Given the description of an element on the screen output the (x, y) to click on. 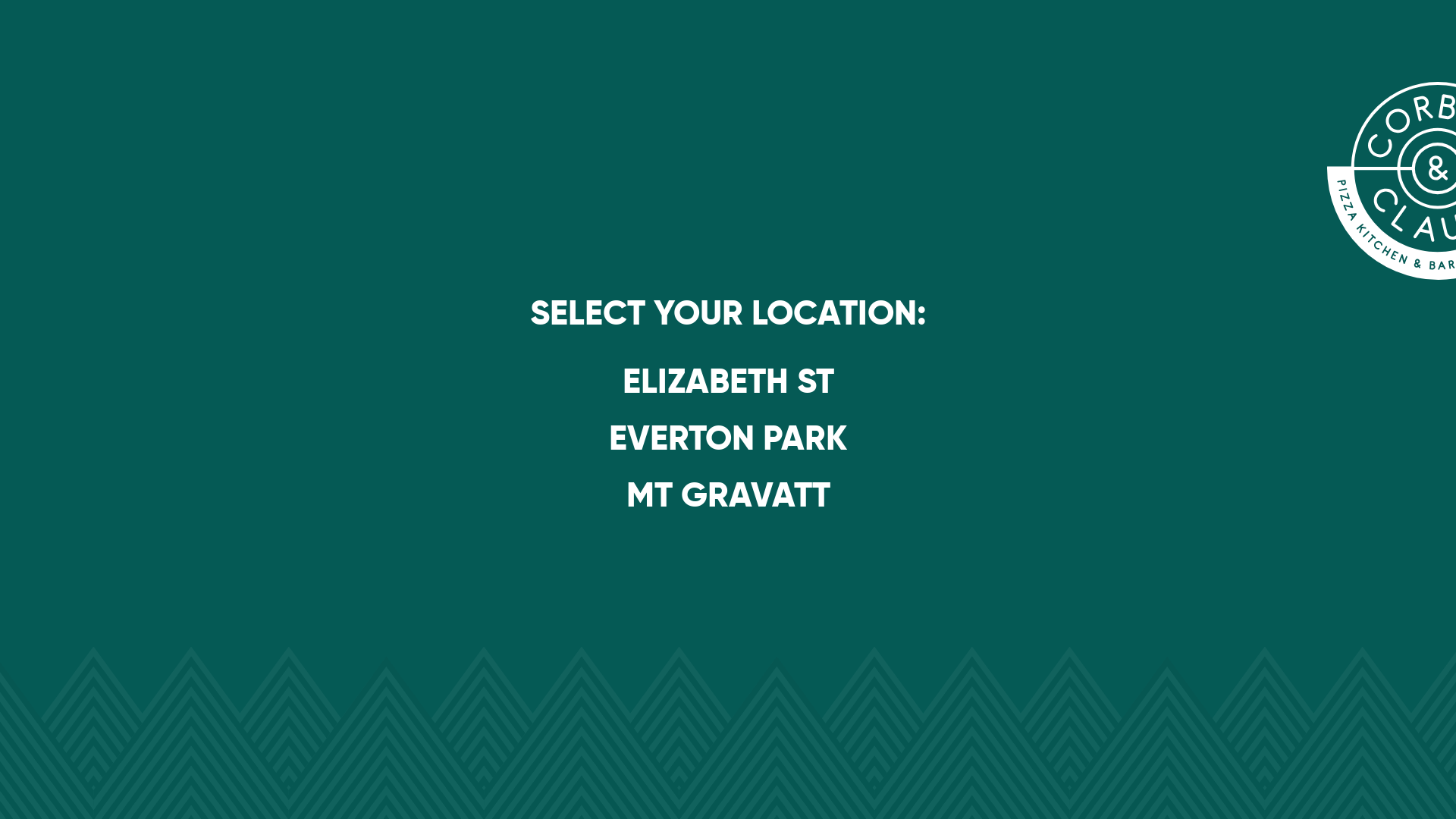
Facebook Element type: text (827, 142)
Gift Cards Element type: text (372, 163)
MENU Element type: text (101, 33)
BOOK Element type: text (218, 33)
Careers Element type: text (367, 183)
Everton Park Element type: text (615, 142)
Menu Element type: text (362, 142)
Home Element type: text (363, 122)
Instagram Element type: text (827, 122)
Elizabeth St Element type: text (612, 122)
Contact Element type: text (367, 204)
Mt Gravatt Element type: text (609, 163)
